Given the description of an element on the screen output the (x, y) to click on. 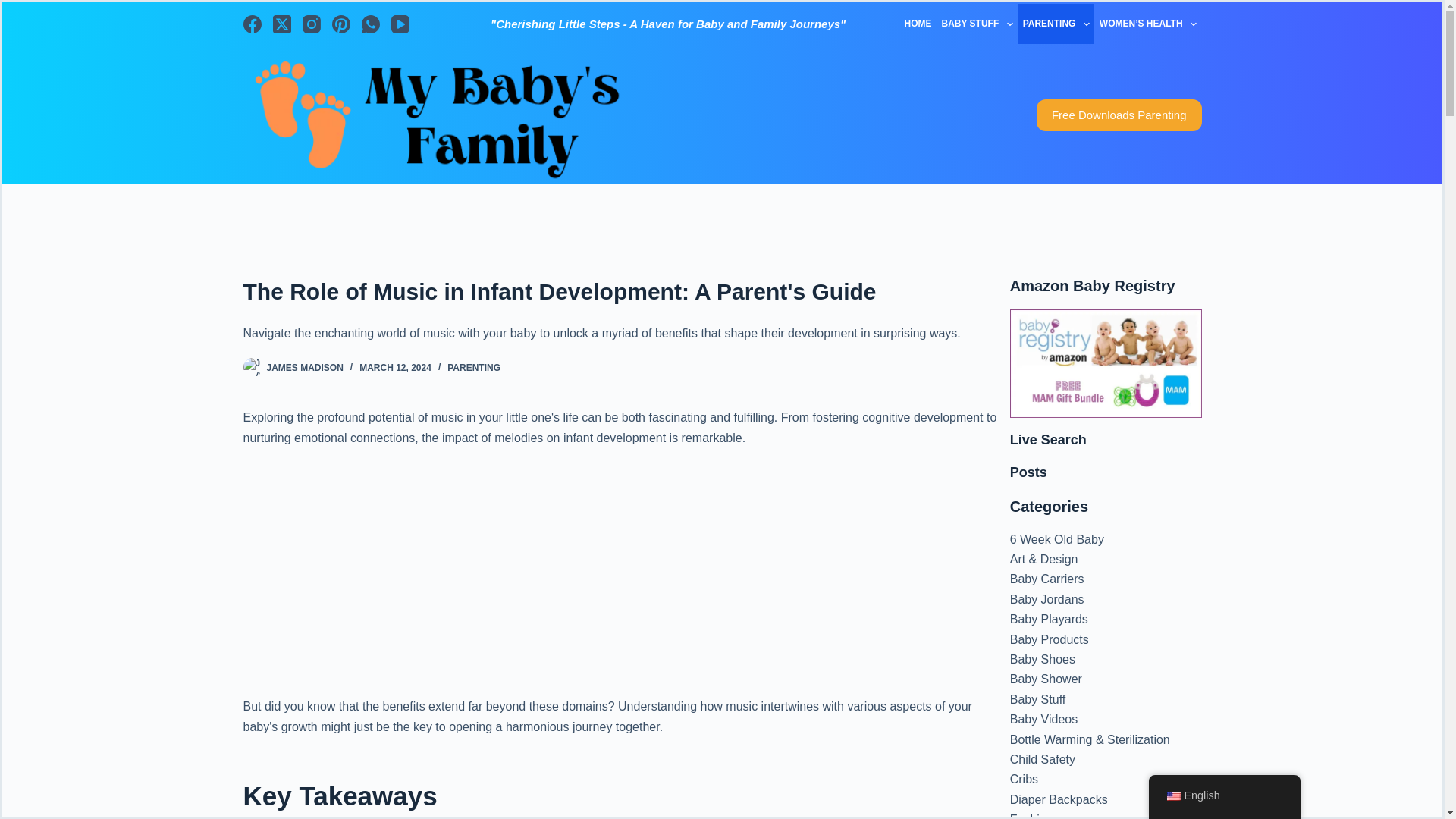
The Role of Music in Infant Development: A Parent's Guide (626, 291)
Posts by James Madison (304, 367)
Skip to content (15, 7)
